Given the description of an element on the screen output the (x, y) to click on. 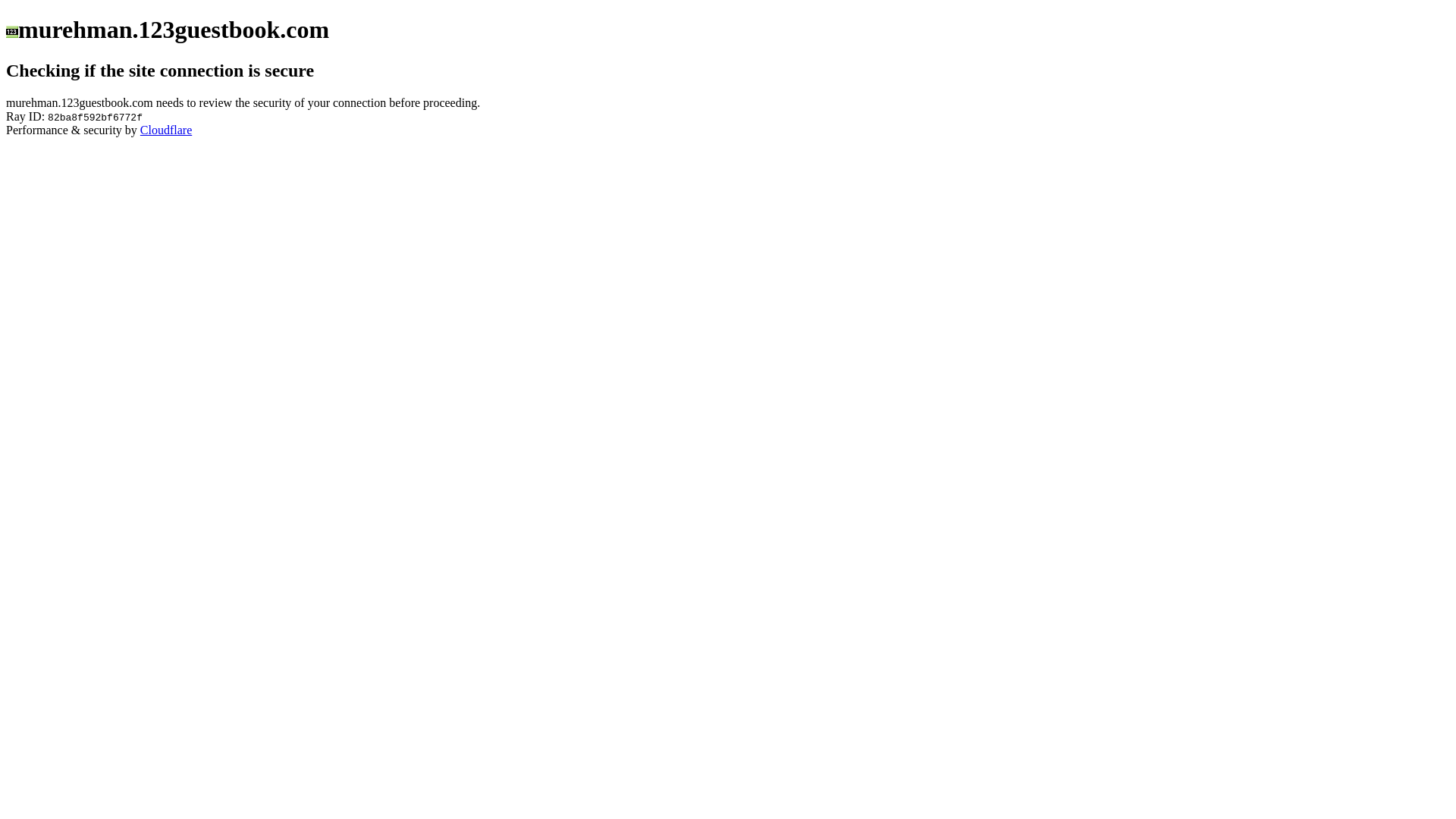
Cloudflare Element type: text (165, 129)
